Given the description of an element on the screen output the (x, y) to click on. 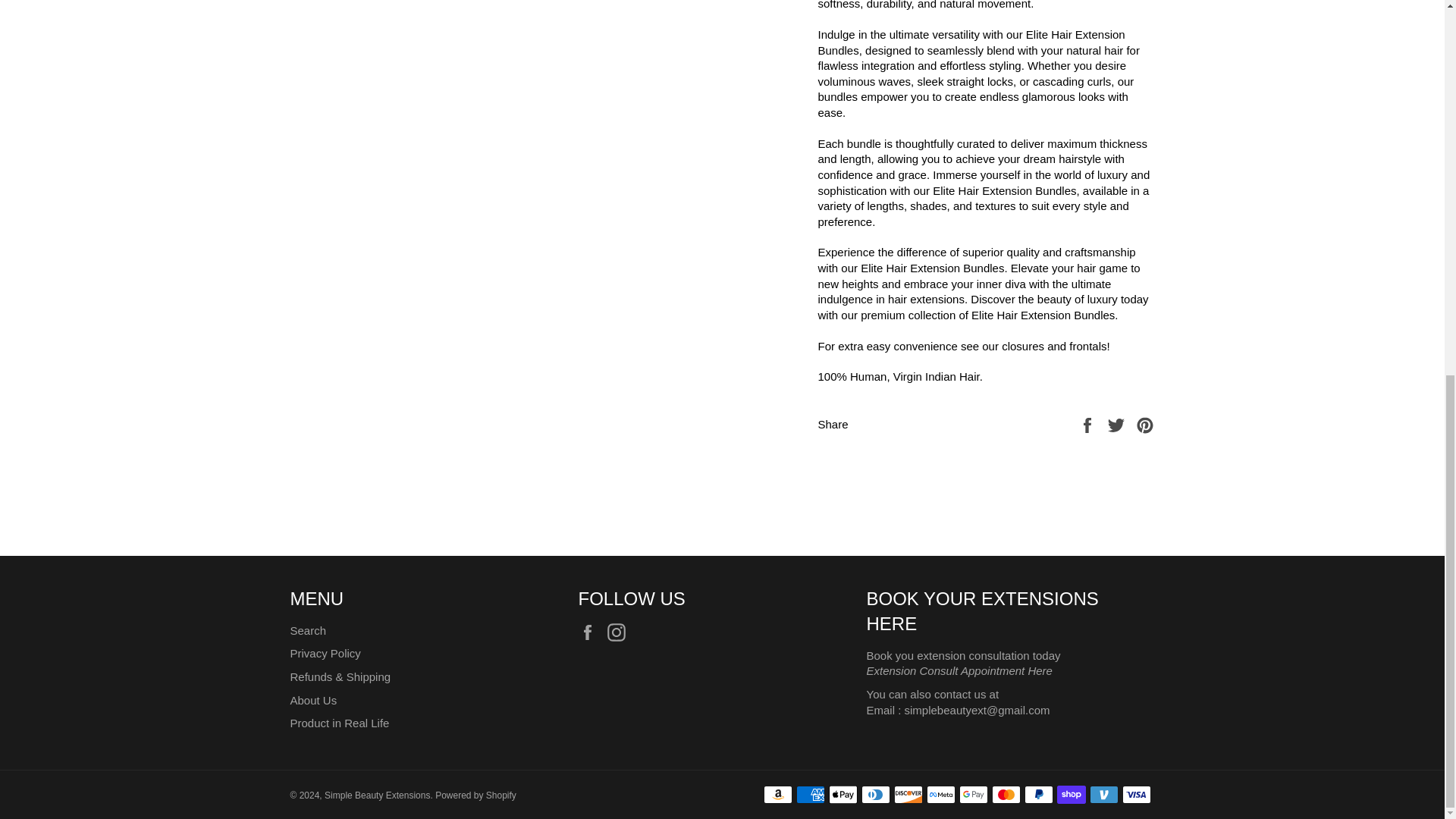
Tweet on Twitter (1117, 423)
Share on Facebook (1088, 423)
Pin on Pinterest (1144, 423)
Privacy Policy (324, 653)
Simple Beauty Extensions on Instagram (620, 632)
Tweet on Twitter (1117, 423)
About Us (312, 699)
Search (307, 630)
Share on Facebook (1088, 423)
Pin on Pinterest (1144, 423)
